Given the description of an element on the screen output the (x, y) to click on. 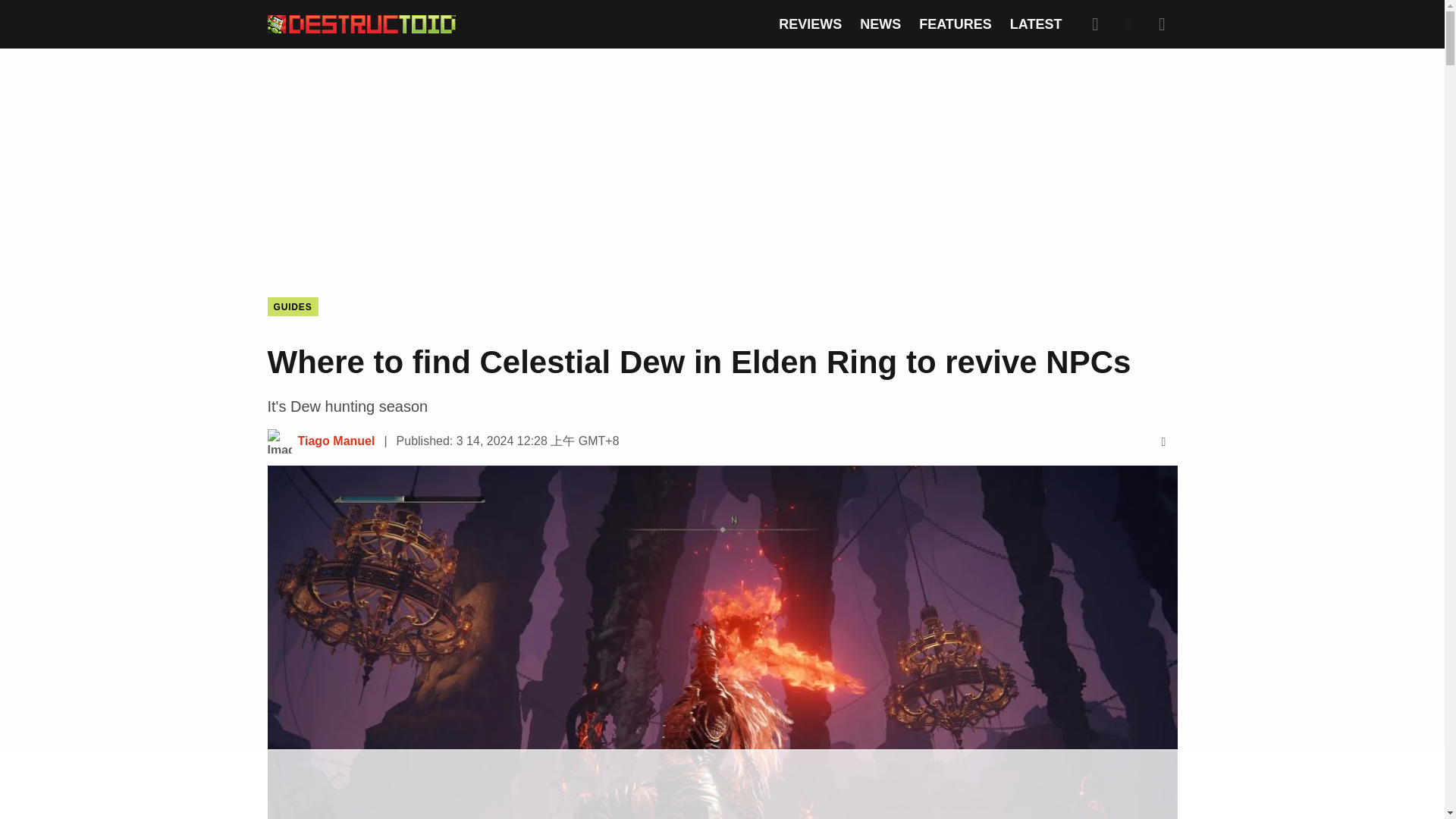
REVIEWS (809, 23)
Dark Mode (1127, 24)
3rd party ad content (721, 785)
LATEST (1036, 23)
GUIDES (291, 306)
3rd party ad content (721, 160)
FEATURES (954, 23)
NEWS (880, 23)
Expand Menu (1161, 24)
Search (1094, 24)
